Given the description of an element on the screen output the (x, y) to click on. 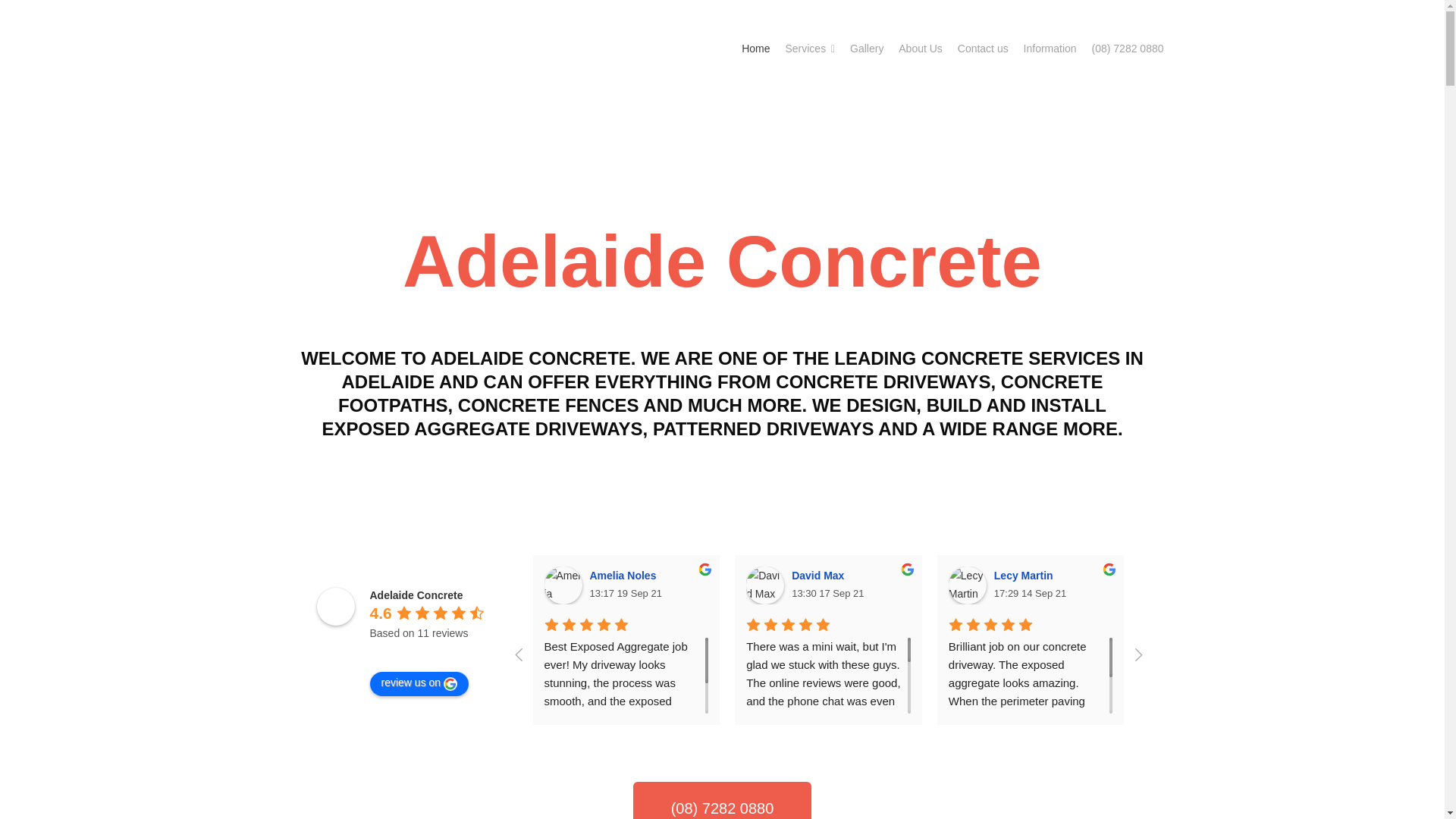
Adelaide Concrete (416, 594)
About Us (920, 48)
David Max (820, 575)
Amelia Noles (625, 575)
Amelia Noles (563, 585)
Contact us (983, 48)
powered by Google (424, 652)
Information (1050, 48)
Home (755, 48)
review us on (418, 683)
